Given the description of an element on the screen output the (x, y) to click on. 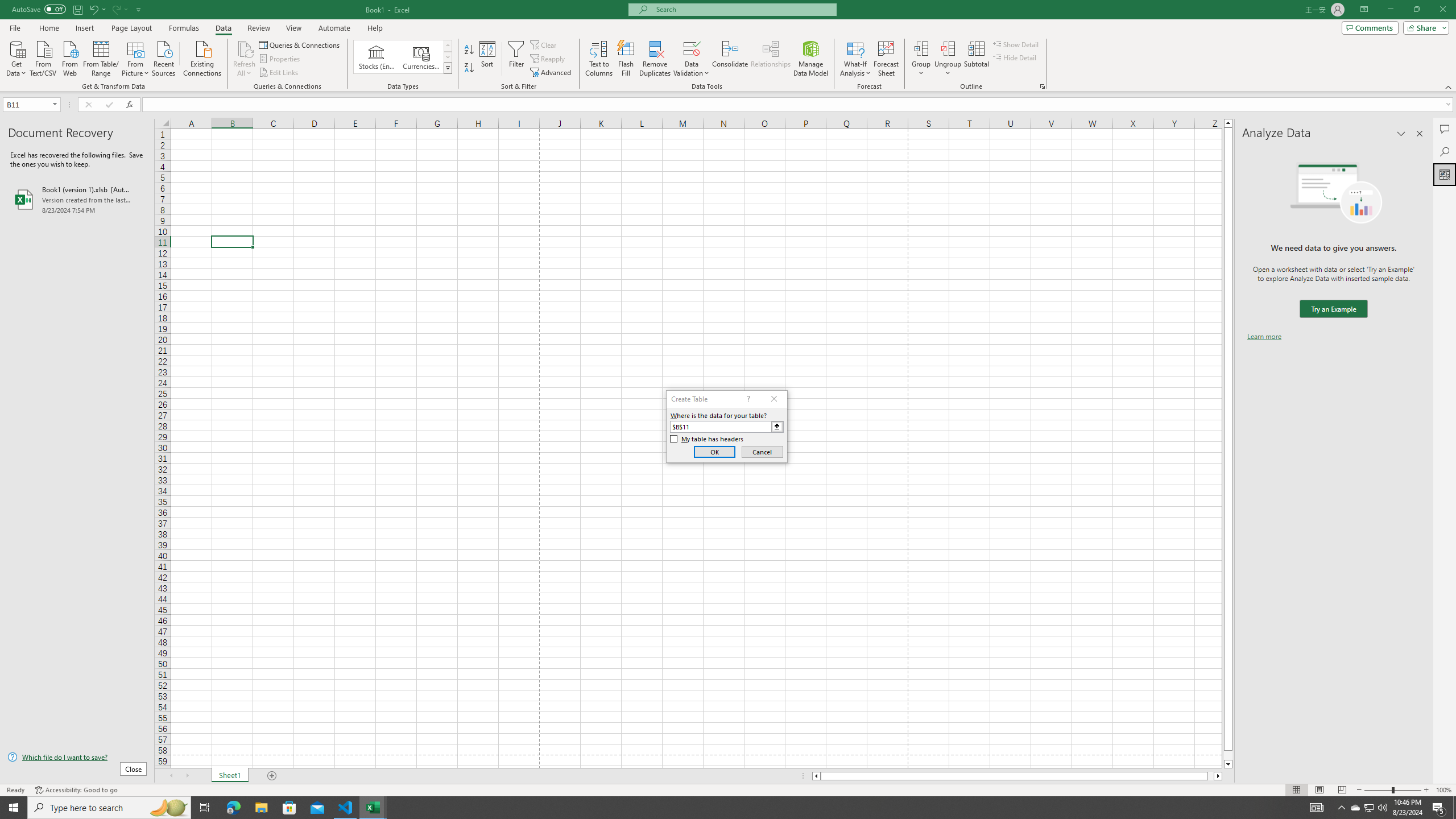
Recent Sources (163, 57)
Edit Links (279, 72)
Filter (515, 58)
Sort... (487, 58)
From Web (69, 57)
